Given the description of an element on the screen output the (x, y) to click on. 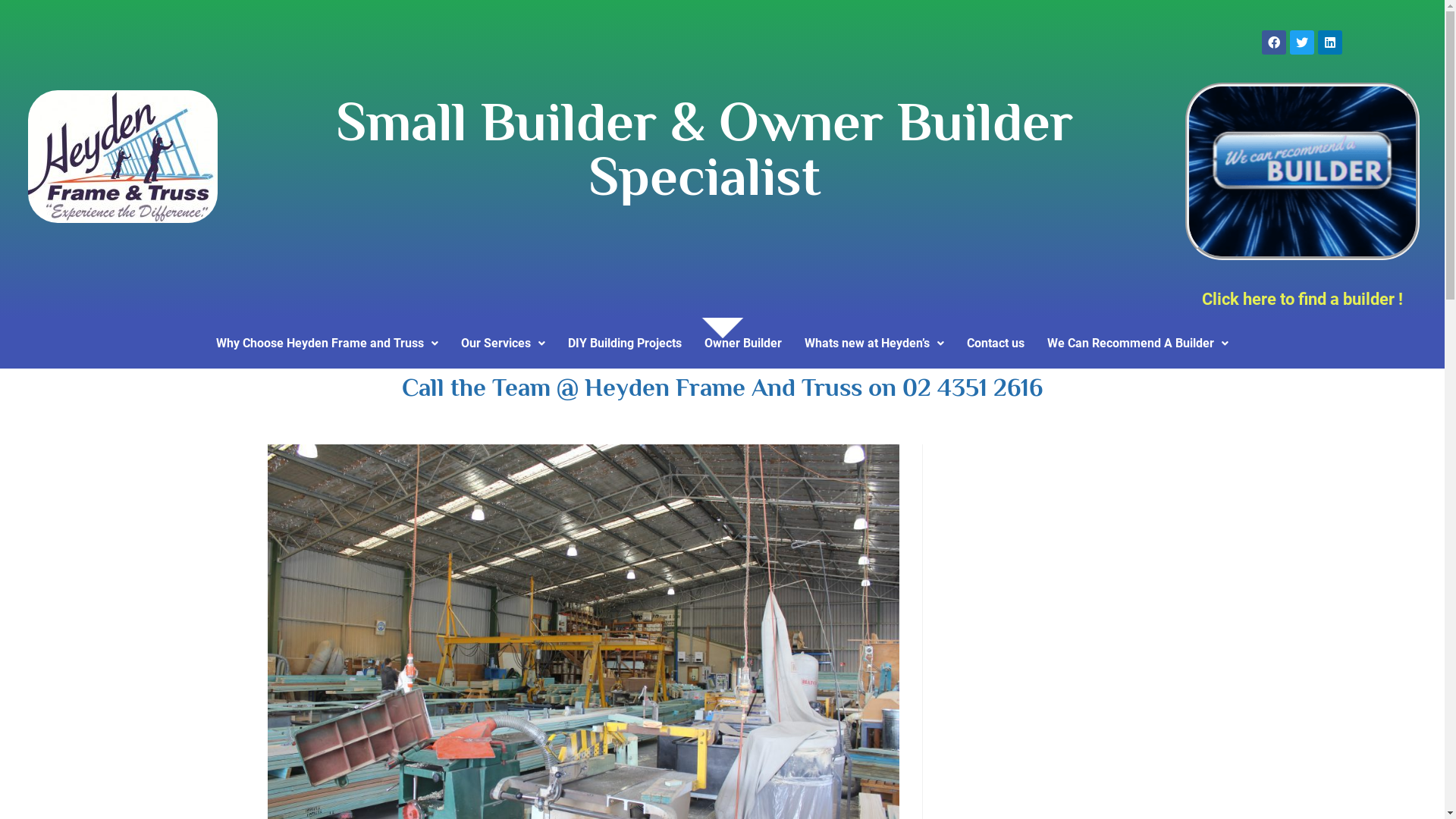
Click here to find a builder ! Element type: text (1301, 298)
Owner Builder Element type: text (743, 343)
Contact us Element type: text (995, 343)
Our Services Element type: text (502, 343)
New Heyden Logo Element type: hover (122, 156)
DIY Building Projects Element type: text (624, 343)
We Can Recommend A Builder Element type: text (1137, 343)
Why Choose Heyden Frame and Truss Element type: text (326, 343)
